Given the description of an element on the screen output the (x, y) to click on. 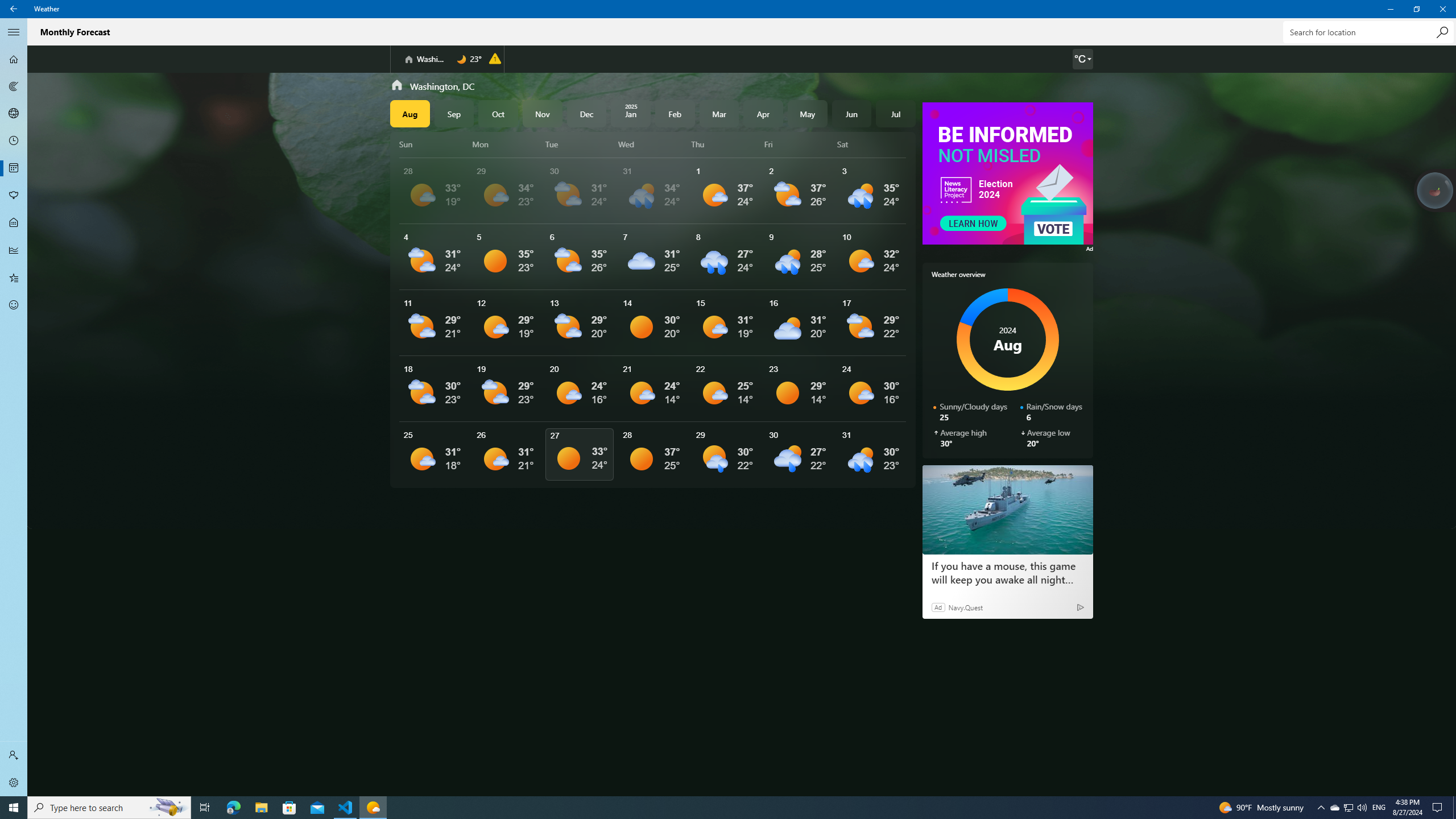
Type here to search (108, 807)
Running applications (706, 807)
Send Feedback - Not Selected (13, 304)
Hourly Forecast - Not Selected (13, 140)
Pollen - Not Selected (13, 195)
Life - Not Selected (13, 222)
Favorites - Not Selected (13, 277)
Restore Weather (1416, 9)
Search for location (1367, 32)
Visual Studio Code - 1 running window (1333, 807)
Forecast - Not Selected (345, 807)
Search (13, 58)
Monthly Forecast - Not Selected (1442, 31)
Maps - Not Selected (13, 167)
